Given the description of an element on the screen output the (x, y) to click on. 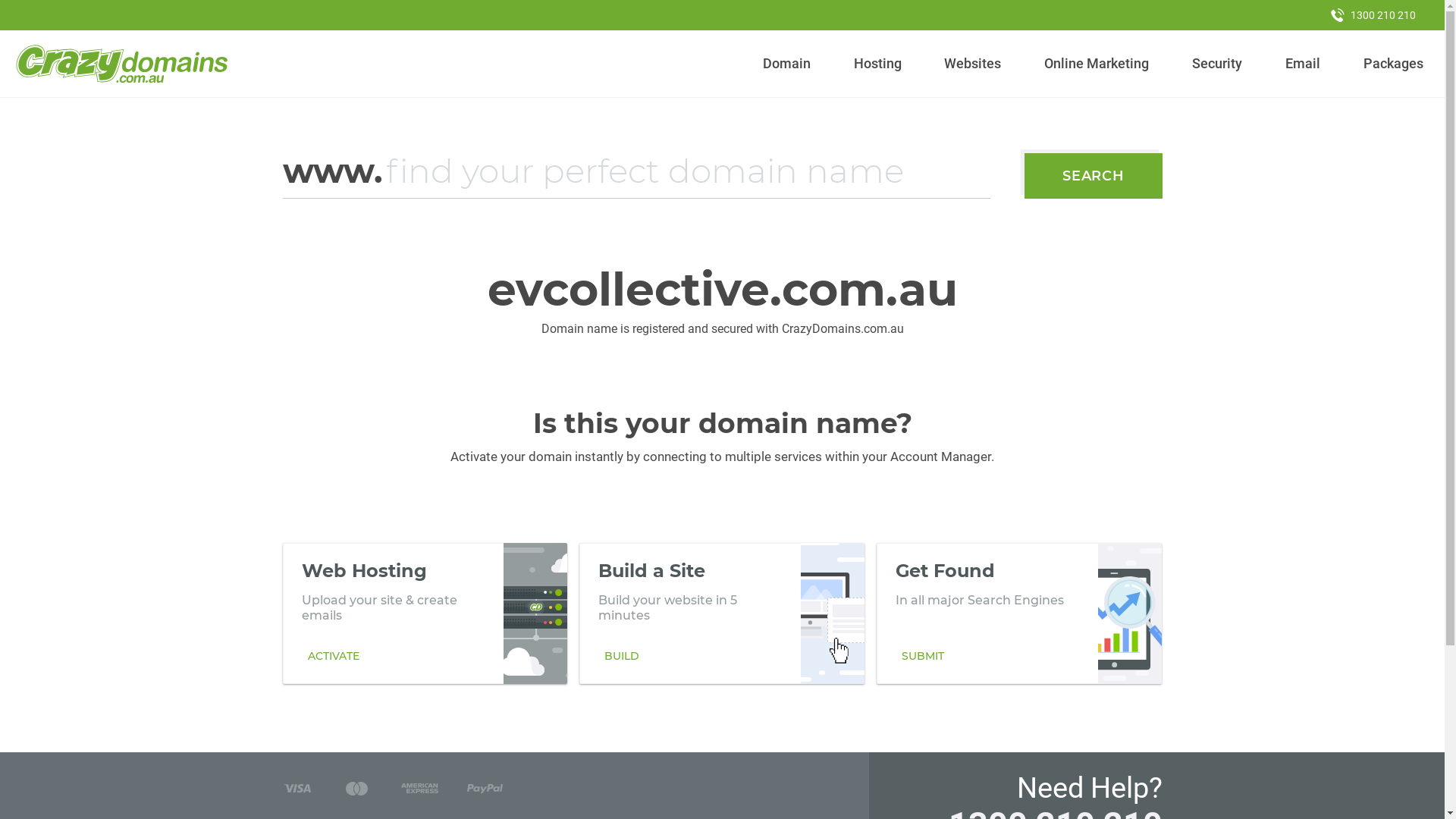
Build a Site
Build your website in 5 minutes
BUILD Element type: text (721, 613)
Security Element type: text (1217, 63)
1300 210 210 Element type: text (1373, 15)
SEARCH Element type: text (1092, 175)
Web Hosting
Upload your site & create emails
ACTIVATE Element type: text (424, 613)
Email Element type: text (1302, 63)
Websites Element type: text (972, 63)
Get Found
In all major Search Engines
SUBMIT Element type: text (1018, 613)
Hosting Element type: text (877, 63)
Online Marketing Element type: text (1096, 63)
Packages Element type: text (1392, 63)
Domain Element type: text (786, 63)
